Given the description of an element on the screen output the (x, y) to click on. 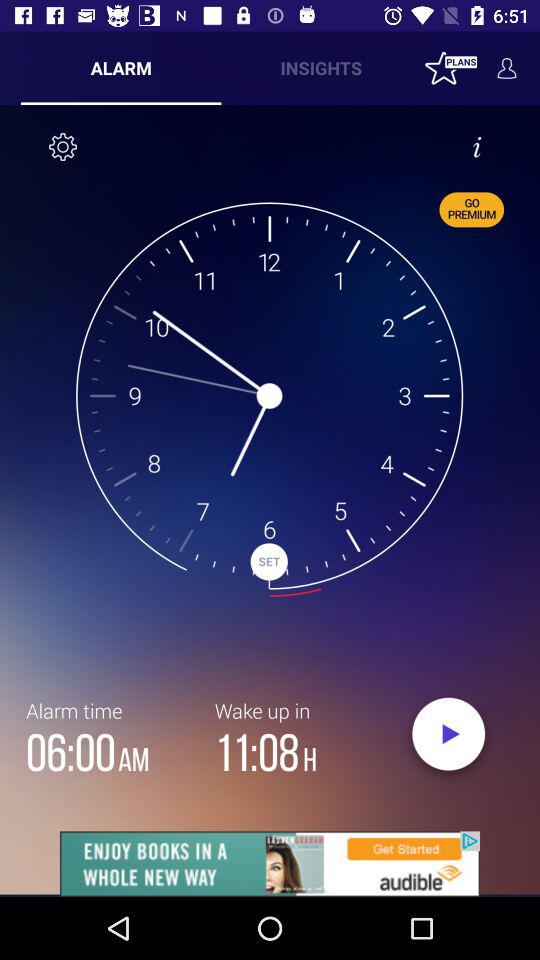
go to settings (63, 147)
